Given the description of an element on the screen output the (x, y) to click on. 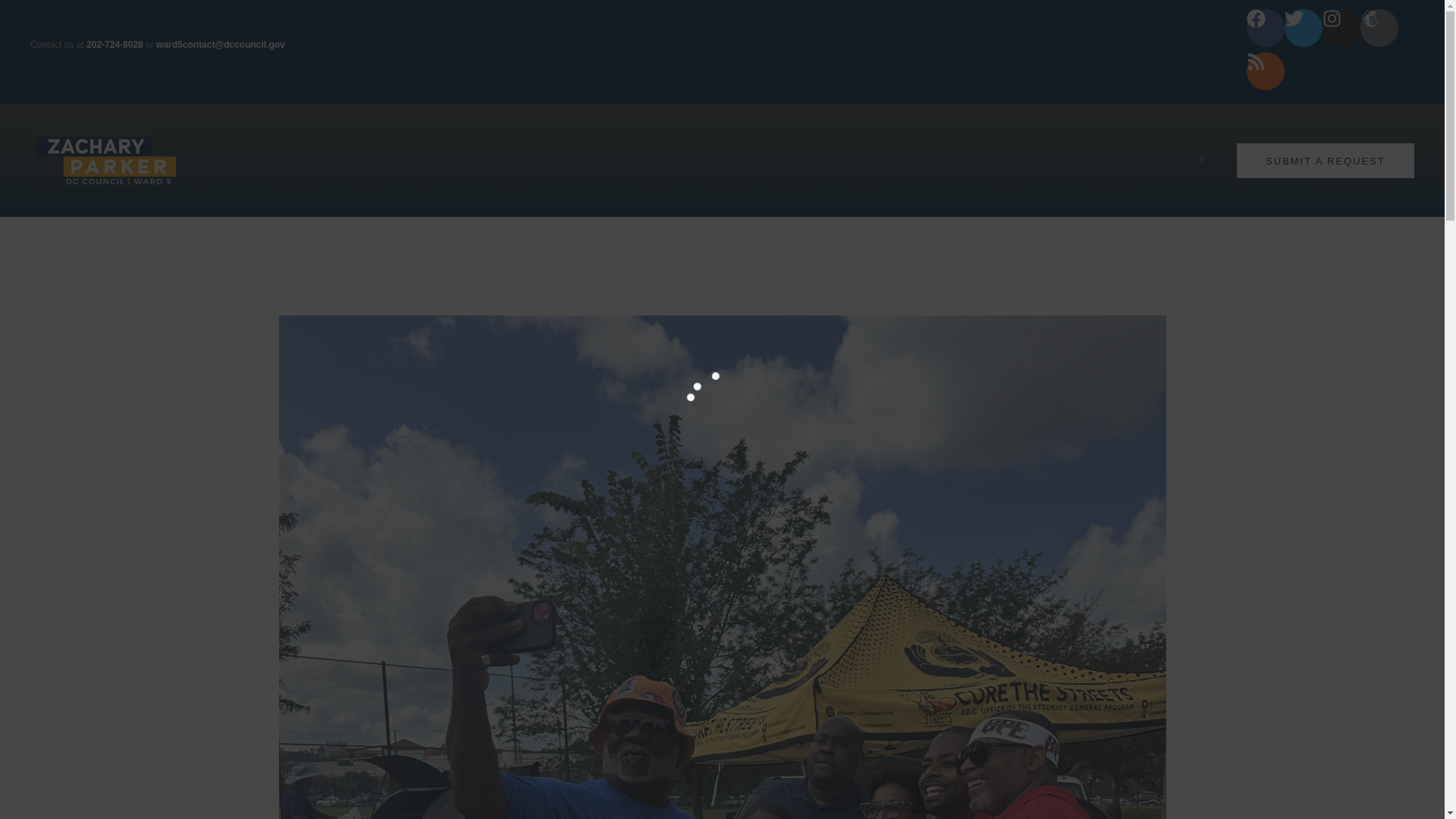
202-724-8028 (113, 44)
